Given the description of an element on the screen output the (x, y) to click on. 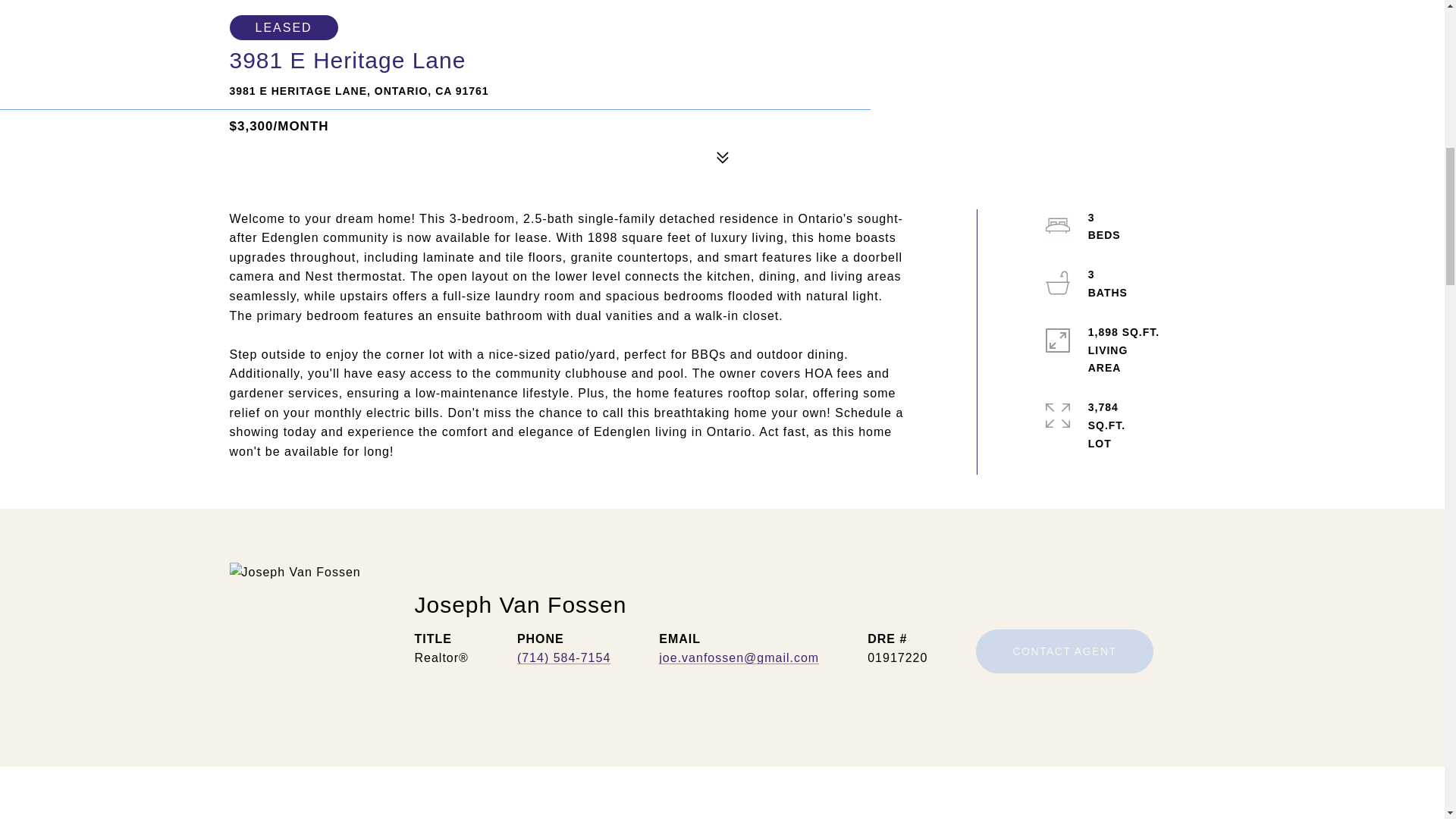
CONTACT AGENT (1064, 651)
